Given the description of an element on the screen output the (x, y) to click on. 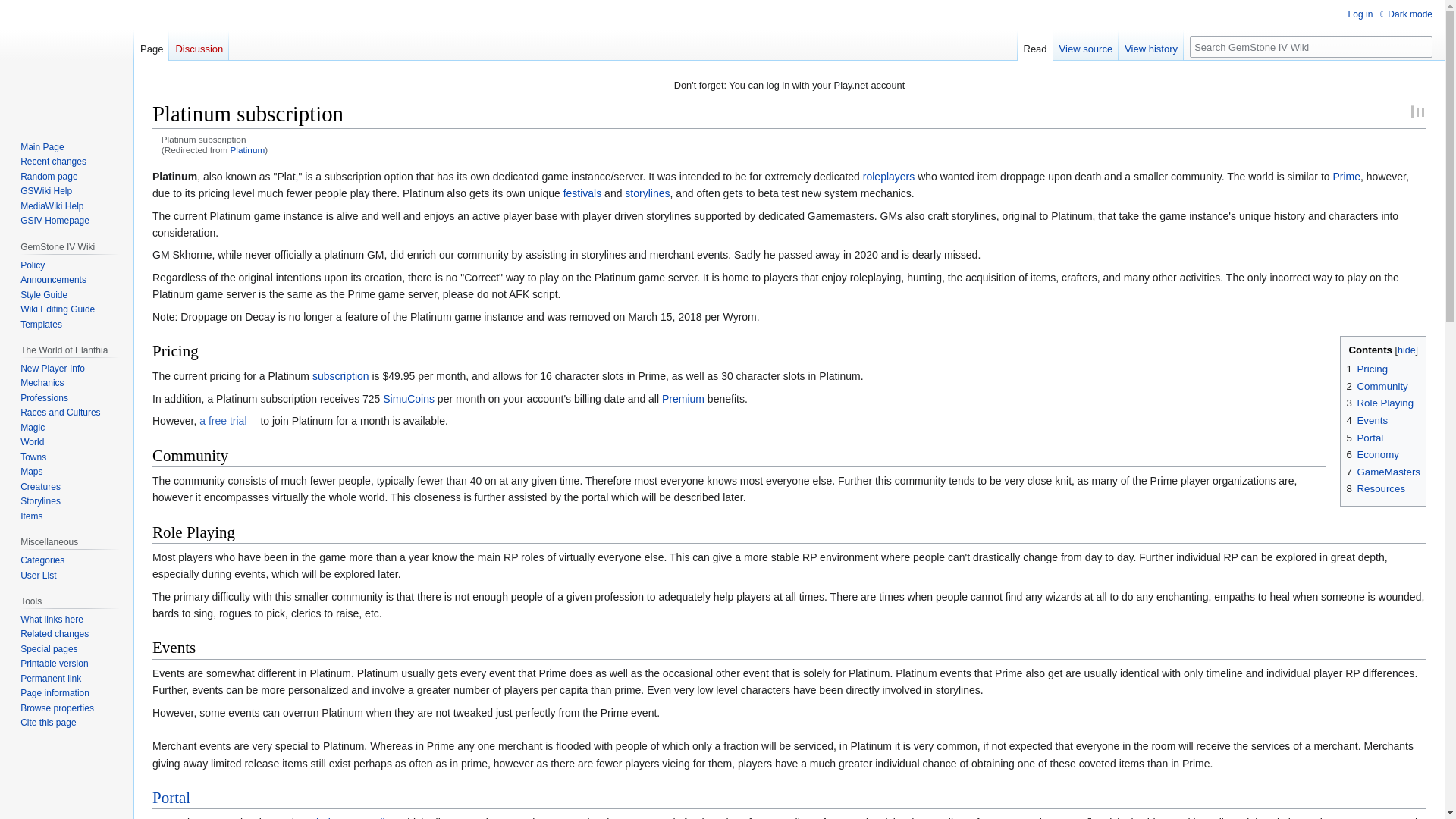
SimuCoin (407, 398)
5 Portal (1364, 437)
Roleplay (888, 176)
3 Role Playing (1379, 402)
Premium (683, 398)
Prime (1345, 176)
1 Pricing (1366, 368)
7 GameMasters (1383, 471)
2 Community (1376, 386)
Platinum (247, 149)
